Given the description of an element on the screen output the (x, y) to click on. 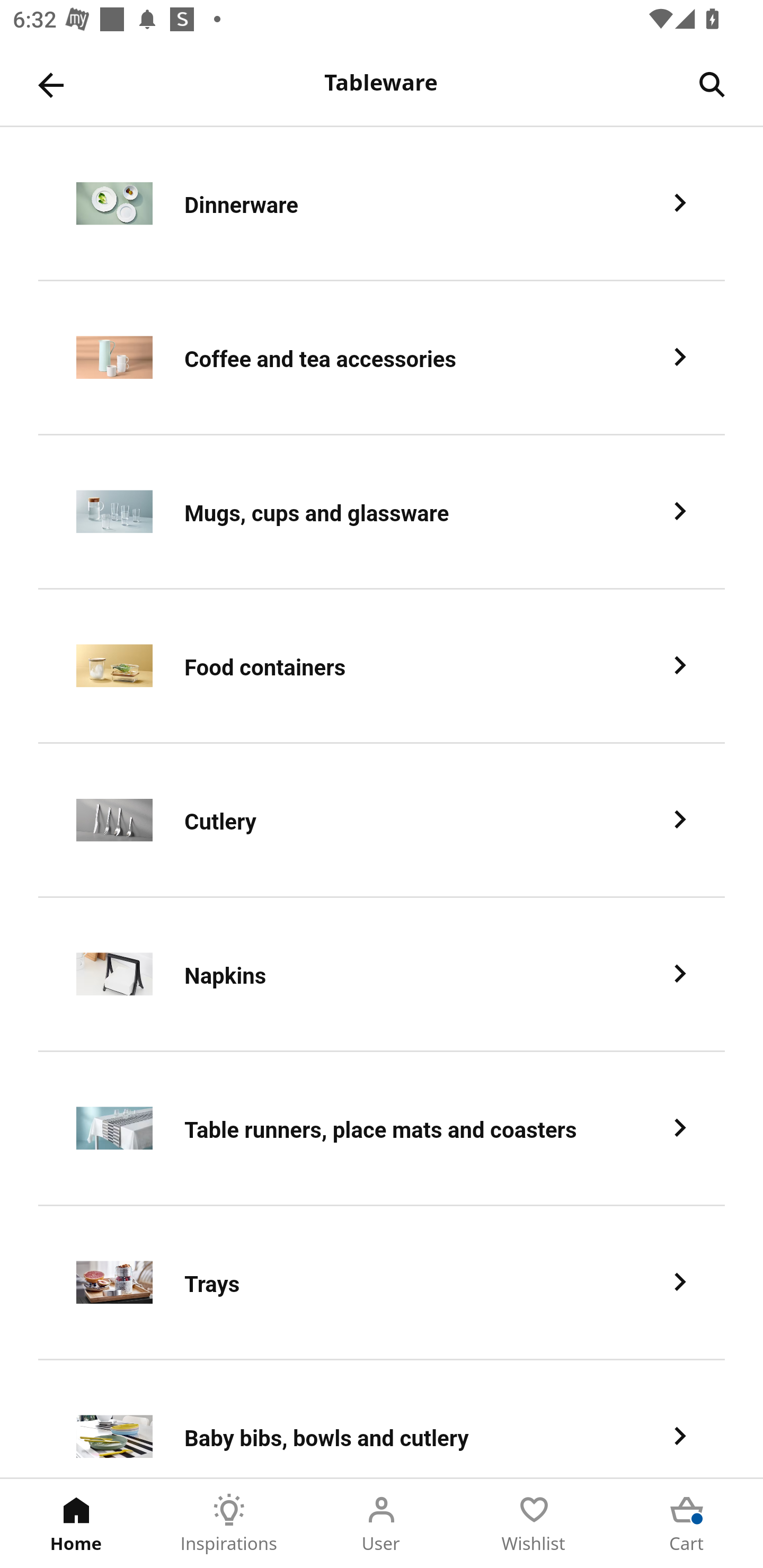
Dinnerware (381, 203)
Coffee and tea accessories (381, 357)
Mugs, cups and glassware (381, 512)
Food containers (381, 666)
Cutlery (381, 820)
Napkins (381, 975)
Table runners, place mats and coasters (381, 1128)
Trays (381, 1283)
Baby bibs, bowls and cutlery (381, 1419)
Home
Tab 1 of 5 (76, 1522)
Inspirations
Tab 2 of 5 (228, 1522)
User
Tab 3 of 5 (381, 1522)
Wishlist
Tab 4 of 5 (533, 1522)
Cart
Tab 5 of 5 (686, 1522)
